Given the description of an element on the screen output the (x, y) to click on. 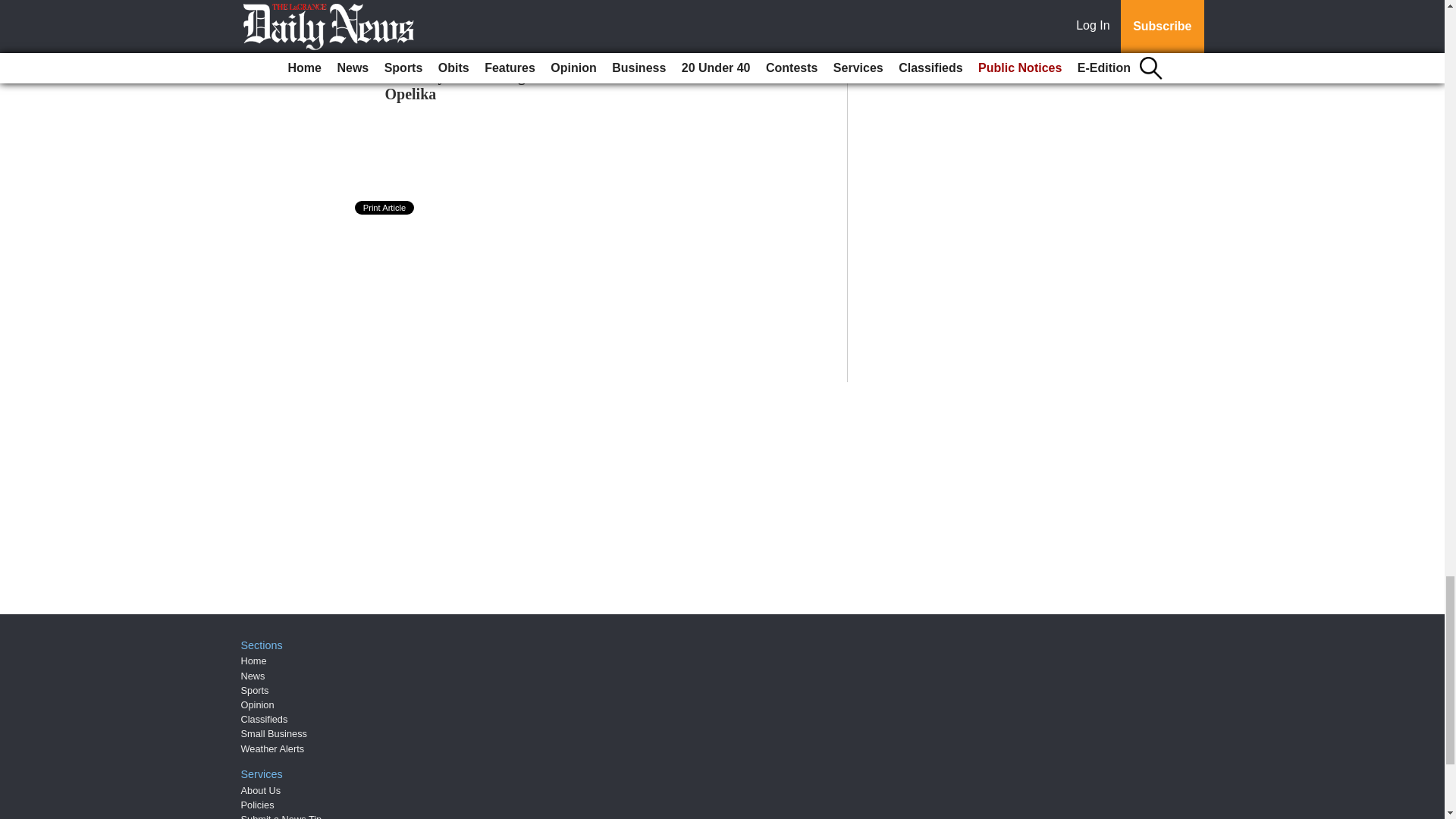
Print Article (384, 207)
Callaway suffers tough loss to Opelika (481, 84)
Callaway suffers tough loss to Opelika (481, 84)
